Given the description of an element on the screen output the (x, y) to click on. 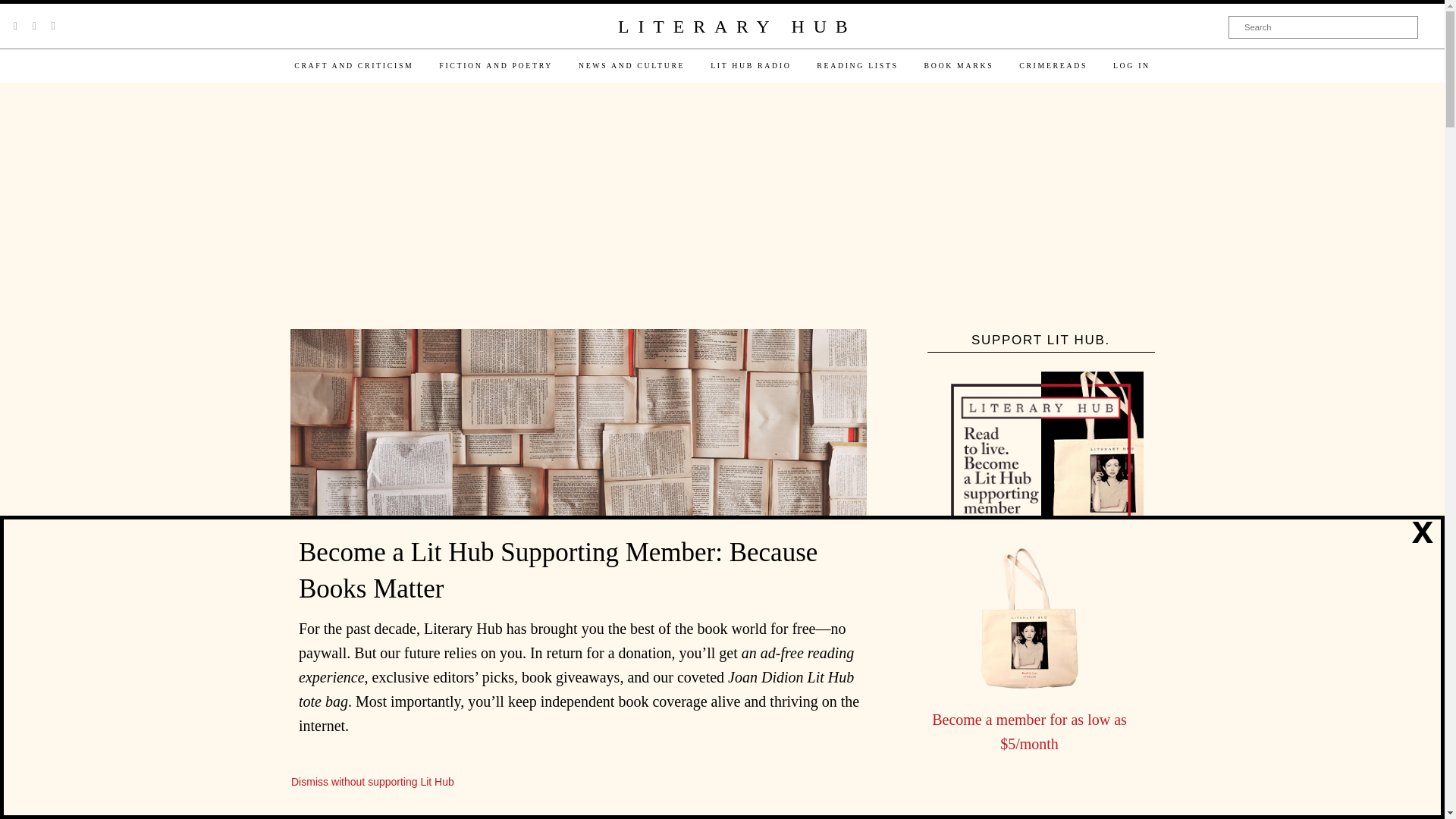
FICTION AND POETRY (496, 65)
NEWS AND CULTURE (631, 65)
CRAFT AND CRITICISM (353, 65)
LITERARY HUB (736, 26)
Search (1323, 26)
